Given the description of an element on the screen output the (x, y) to click on. 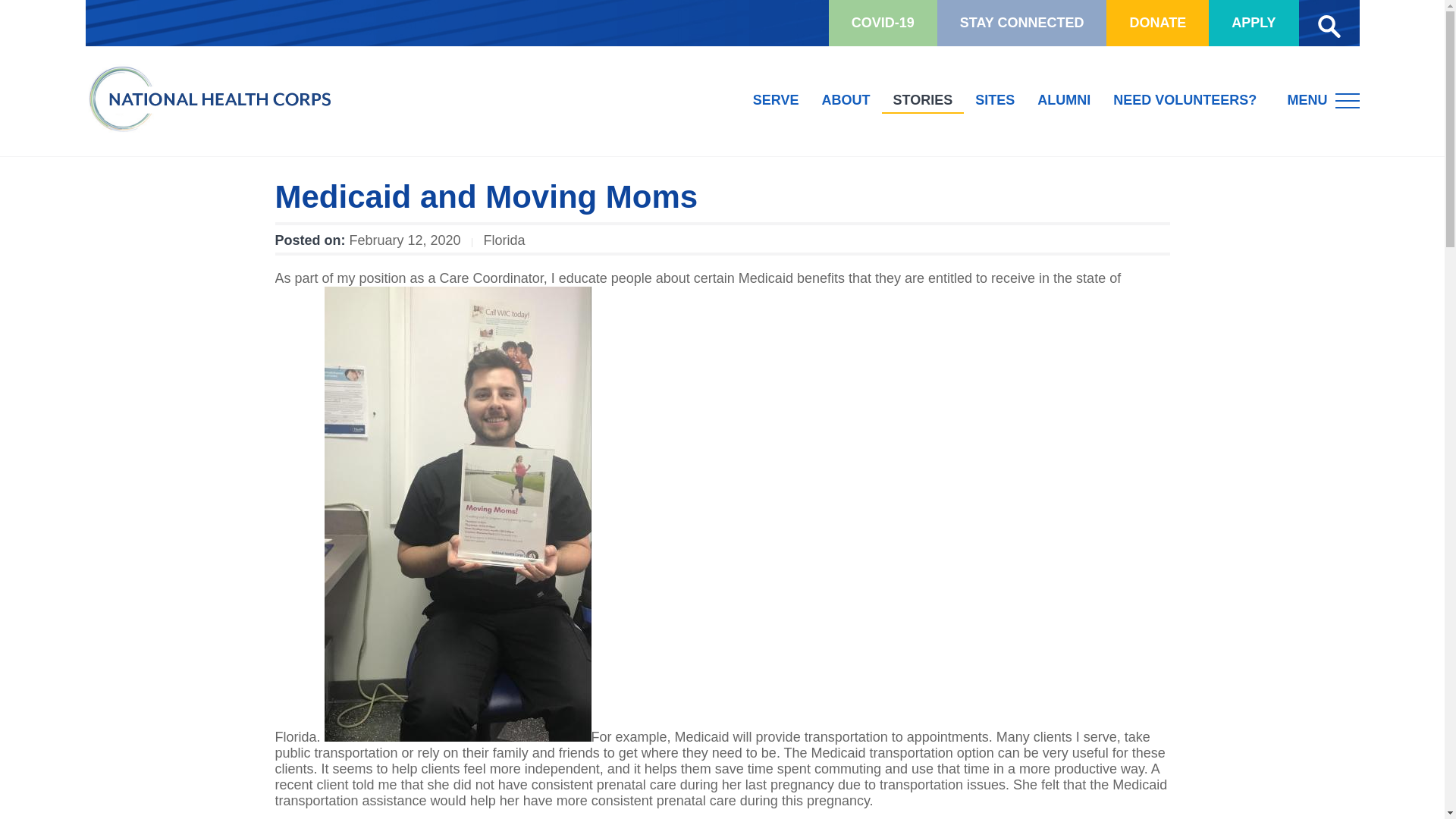
ALUMNI (1064, 100)
MENU (1323, 99)
ABOUT (846, 100)
APPLY (1253, 22)
STORIES (922, 100)
NEED VOLUNTEERS? (1185, 100)
STAY CONNECTED (1021, 22)
COVID-19 (882, 22)
SERVE (775, 100)
DONATE (1157, 22)
